Given the description of an element on the screen output the (x, y) to click on. 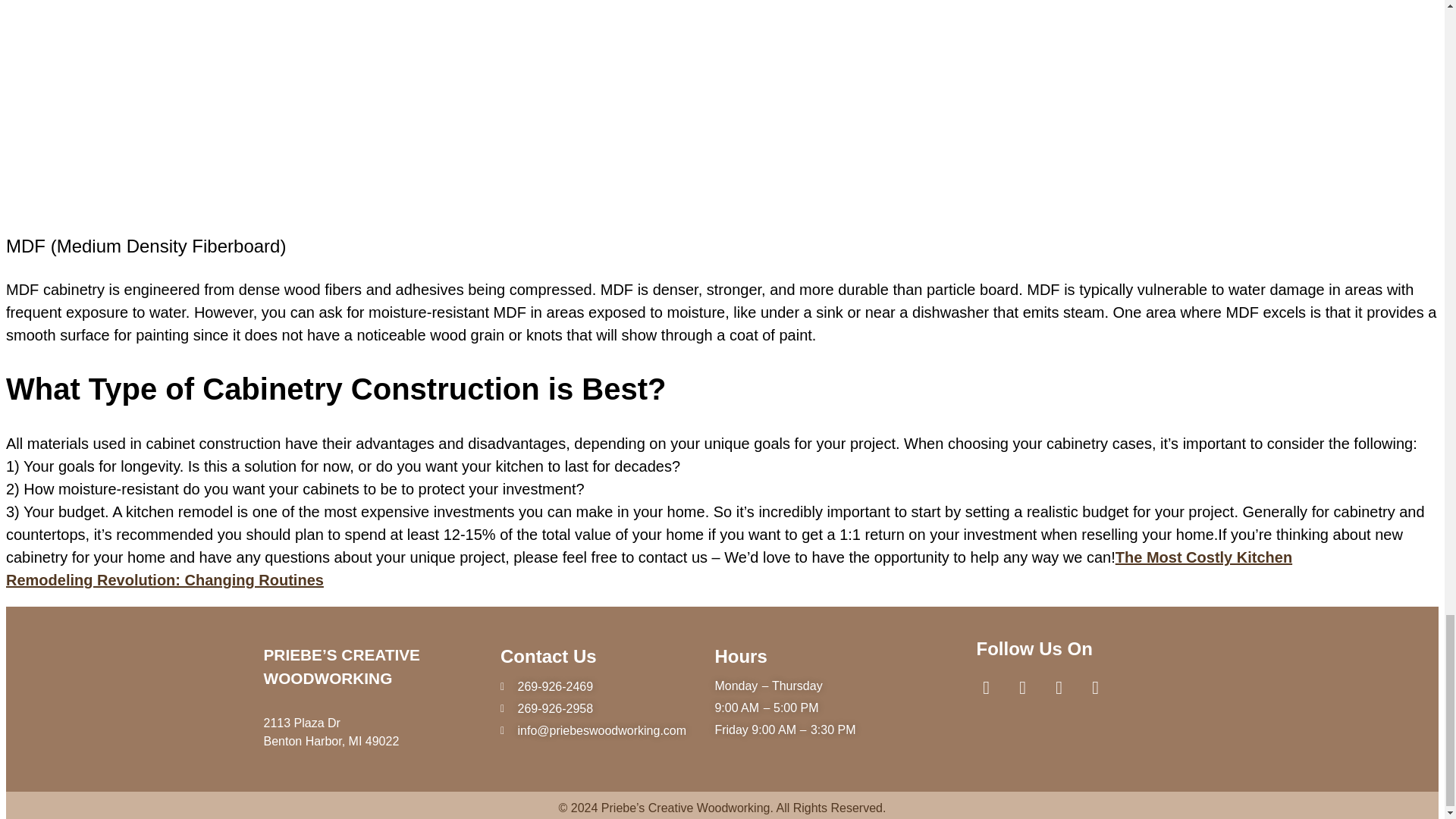
269-926-2469 (592, 687)
The Most Costly Kitchen (1203, 556)
Remodeling Revolution: Changing Routines (164, 579)
